Given the description of an element on the screen output the (x, y) to click on. 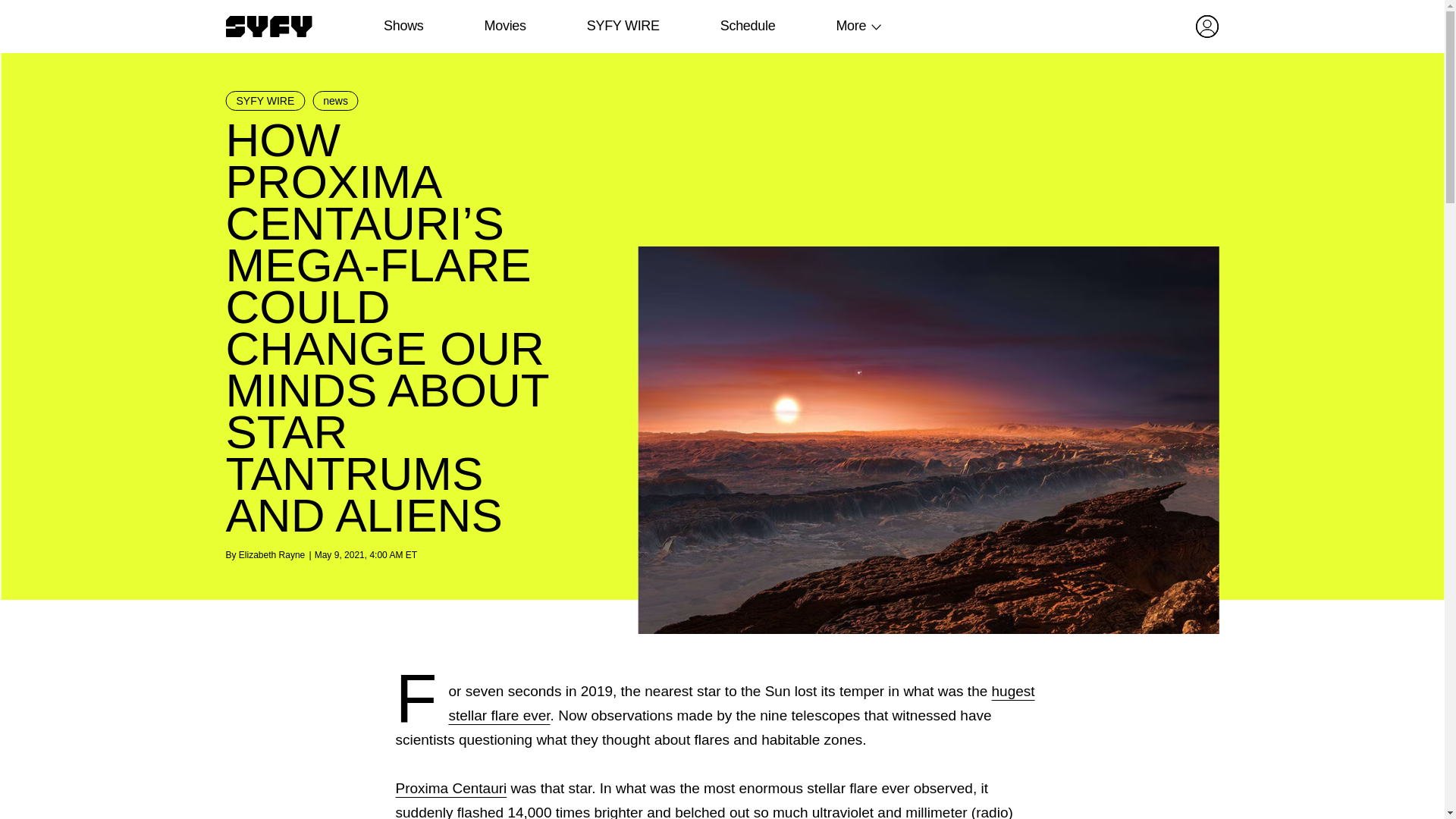
Shows (403, 26)
Schedule (746, 26)
Movies (504, 26)
Elizabeth Rayne (271, 554)
More (850, 26)
SYFY WIRE (265, 100)
Proxima Centauri (451, 788)
news (335, 100)
SYFY WIRE (622, 26)
